Given the description of an element on the screen output the (x, y) to click on. 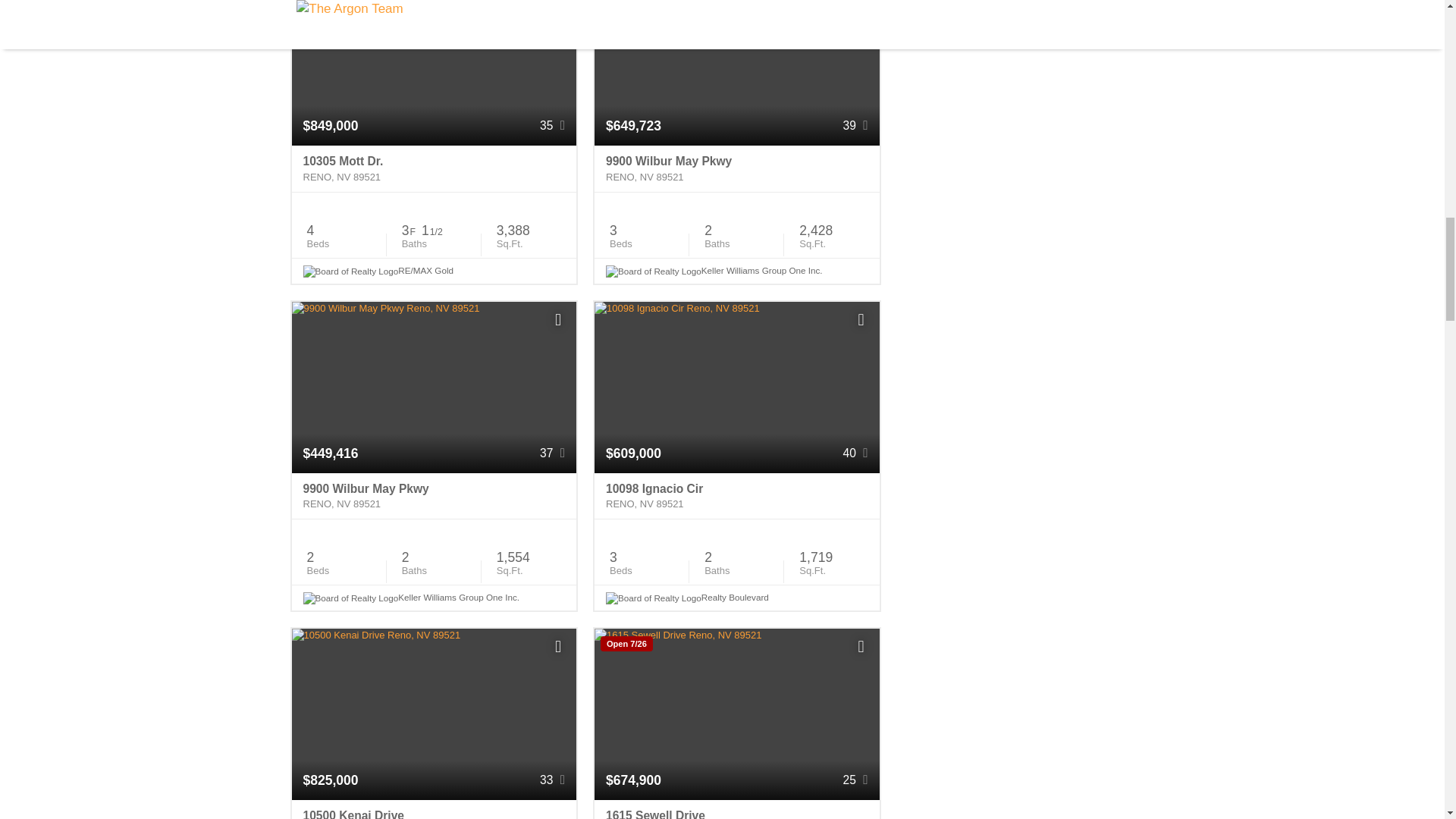
10305 Mott Dr. Reno,  NV 89521 (433, 168)
9900 Wilbur May Pkwy Reno,  NV 89521 (736, 168)
